Given the description of an element on the screen output the (x, y) to click on. 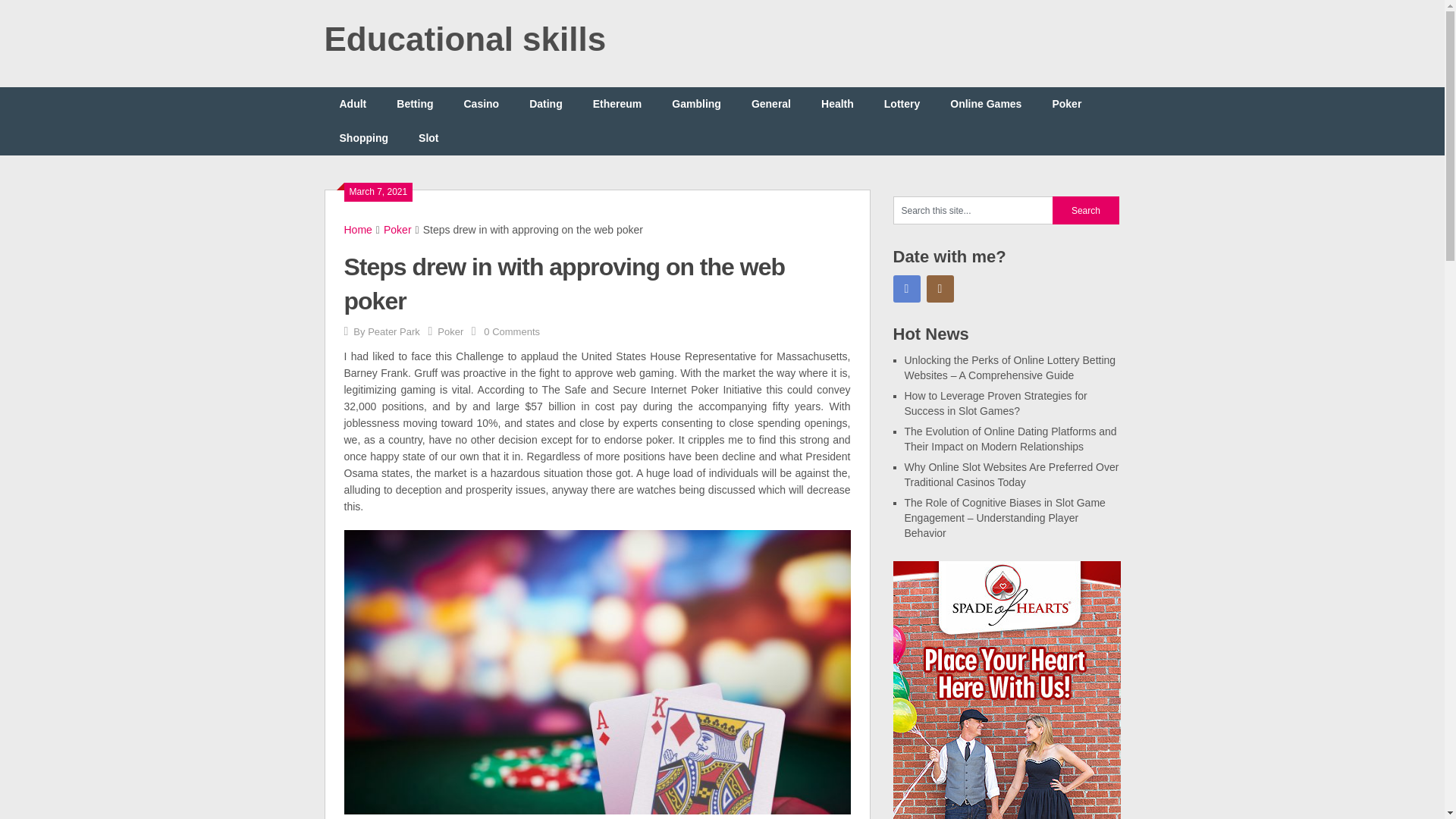
Betting (414, 103)
Online Games (985, 103)
Instagram (939, 288)
Gambling (696, 103)
Slot (427, 138)
Search (1085, 210)
0 Comments (511, 331)
Peater Park (394, 331)
Lottery (901, 103)
